Given the description of an element on the screen output the (x, y) to click on. 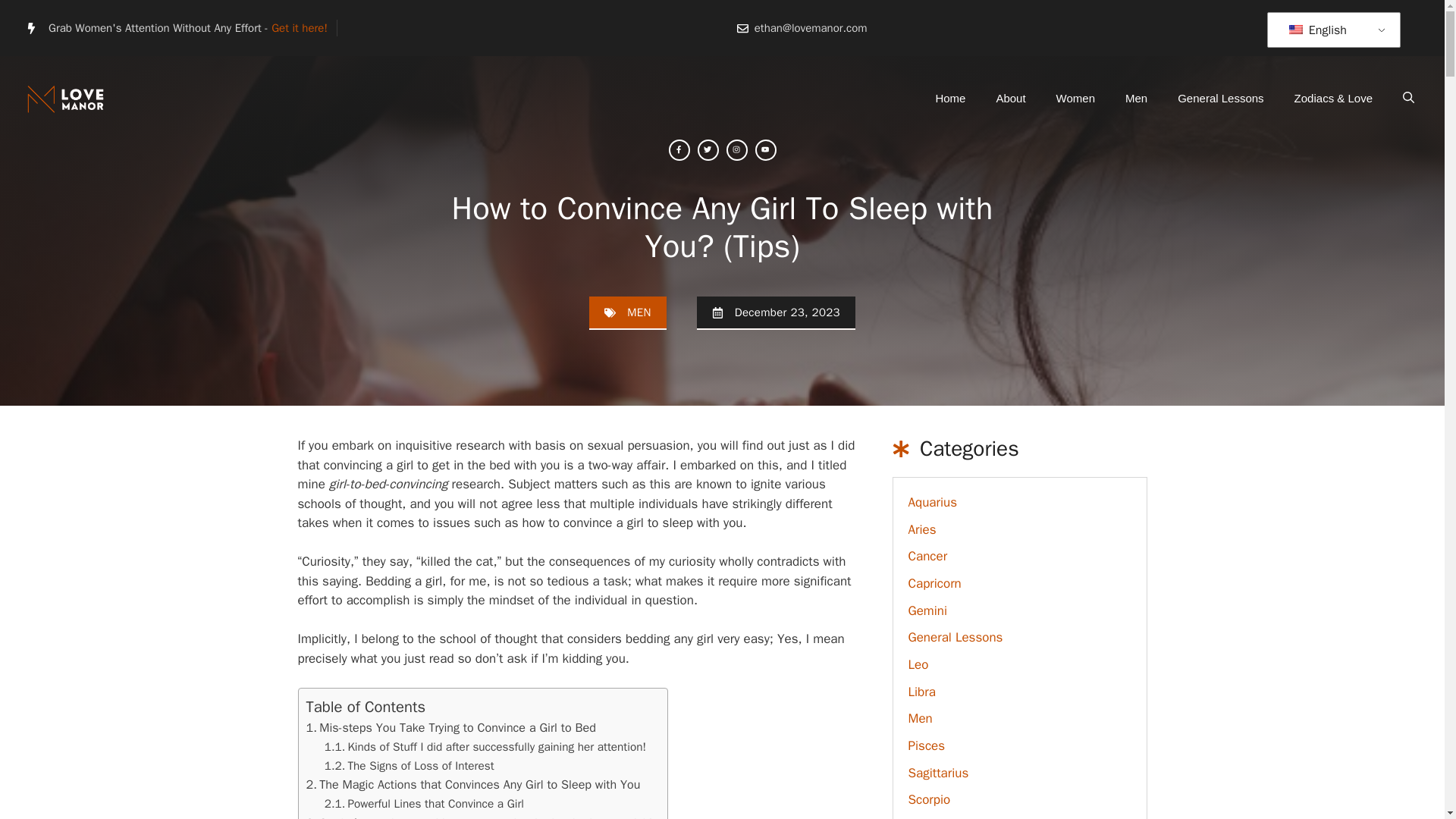
The Magic Actions that Convinces Any Girl to Sleep with You (472, 784)
Women (1075, 98)
English (1331, 30)
English (1295, 29)
About (1010, 98)
Powerful Lines that Convince a Girl (424, 803)
Get it here! (298, 28)
The Signs of Loss of Interest (409, 765)
The Signs of Loss of Interest (409, 765)
Home (949, 98)
MEN (638, 312)
Men (1135, 98)
Mis-steps You Take Trying to Convince a Girl to Bed (450, 727)
